Given the description of an element on the screen output the (x, y) to click on. 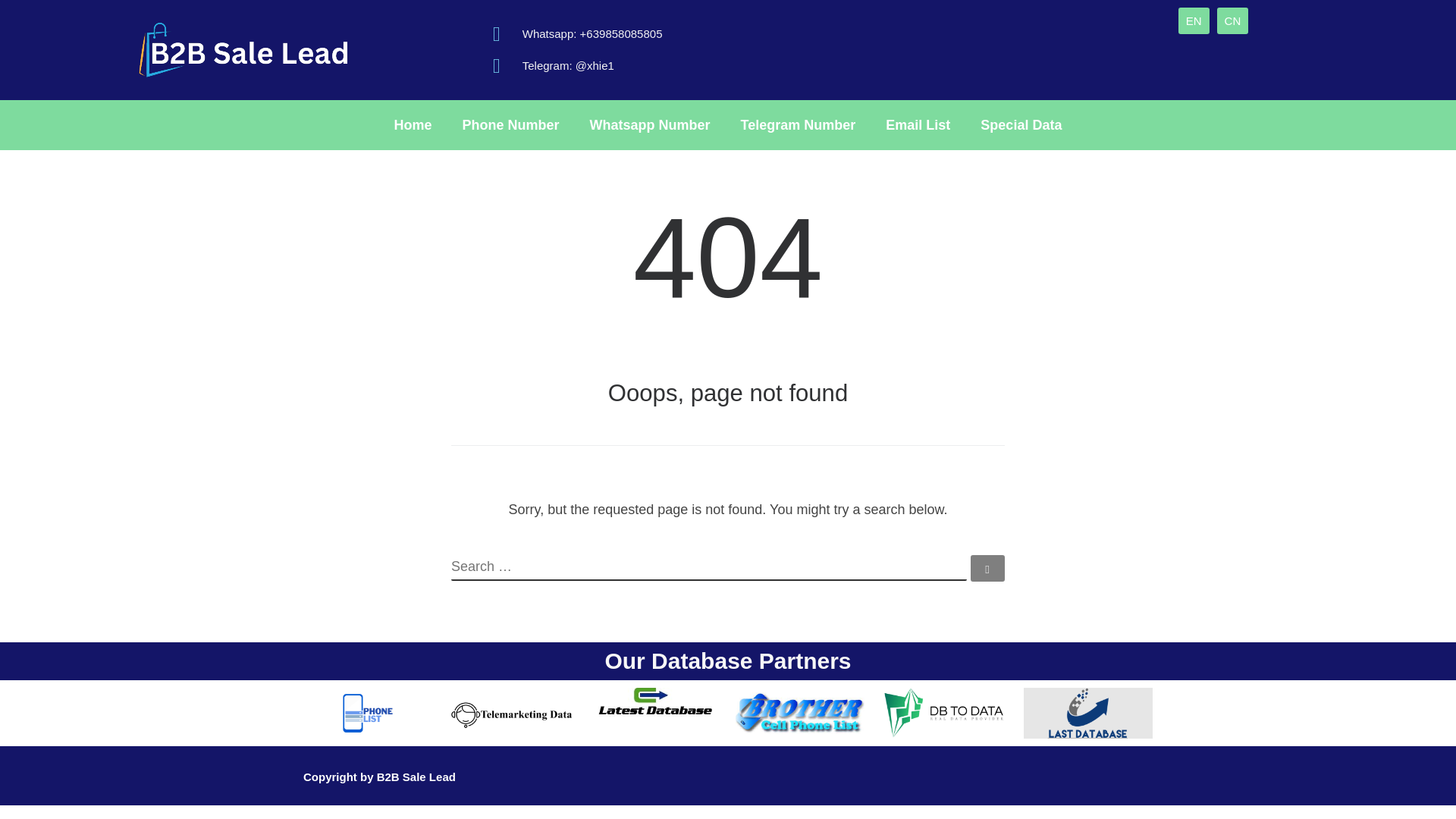
EN (1193, 20)
Whatsapp Number (650, 124)
Phone Number (510, 124)
B2B Sale Lead (416, 776)
CN (1233, 20)
Special Data (1021, 124)
Home (412, 124)
Telegram Number (797, 124)
Email List (917, 124)
